Given the description of an element on the screen output the (x, y) to click on. 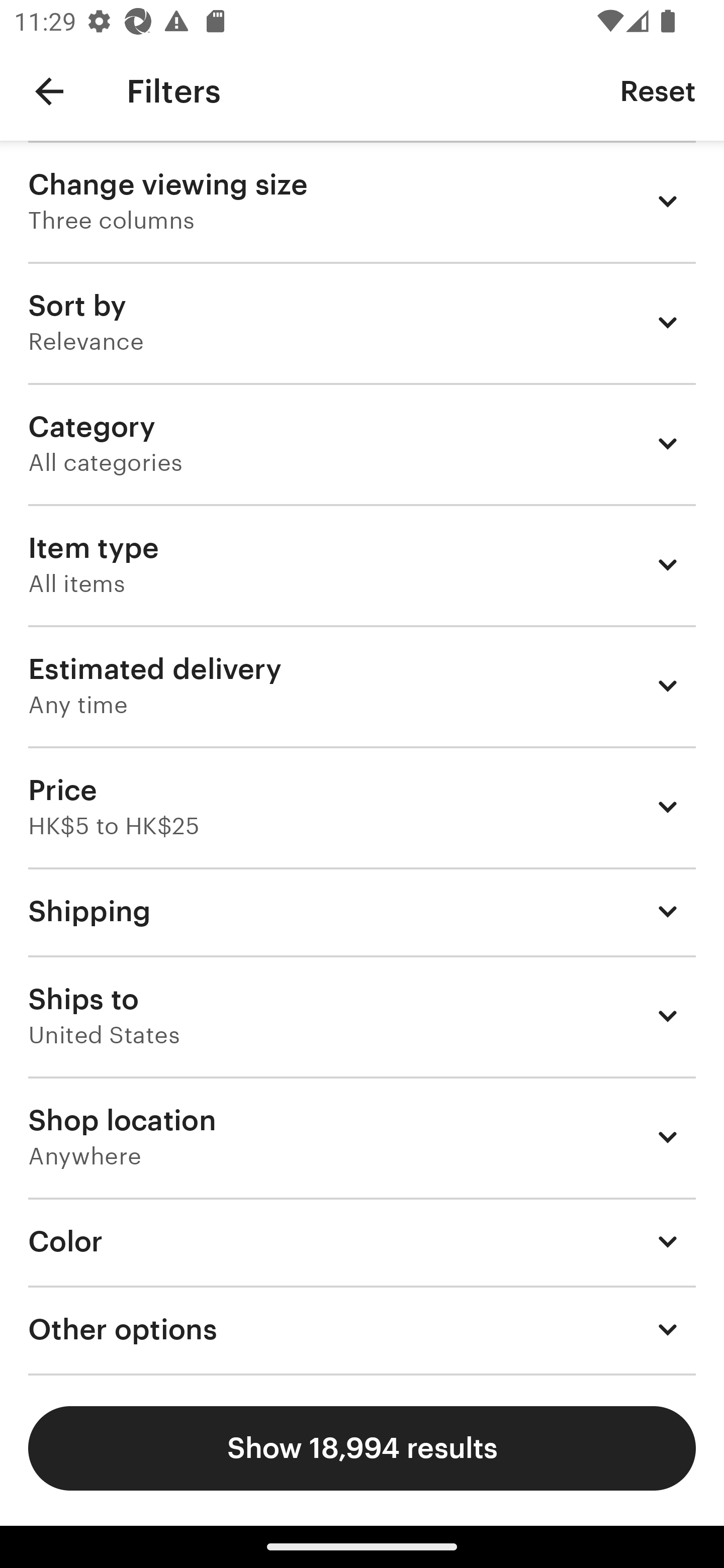
Navigate up (49, 91)
Reset (657, 90)
Change viewing size Three columns (362, 201)
Sort by Relevance (362, 321)
Category All categories (362, 442)
Item type All items (362, 564)
Estimated delivery Any time (362, 685)
Price HK$5 to HK$25 (362, 806)
Shipping (362, 910)
Ships to United States (362, 1015)
Shop location Anywhere (362, 1137)
Color (362, 1241)
Other options (362, 1329)
Show 18,994 results Show results (361, 1448)
